Given the description of an element on the screen output the (x, y) to click on. 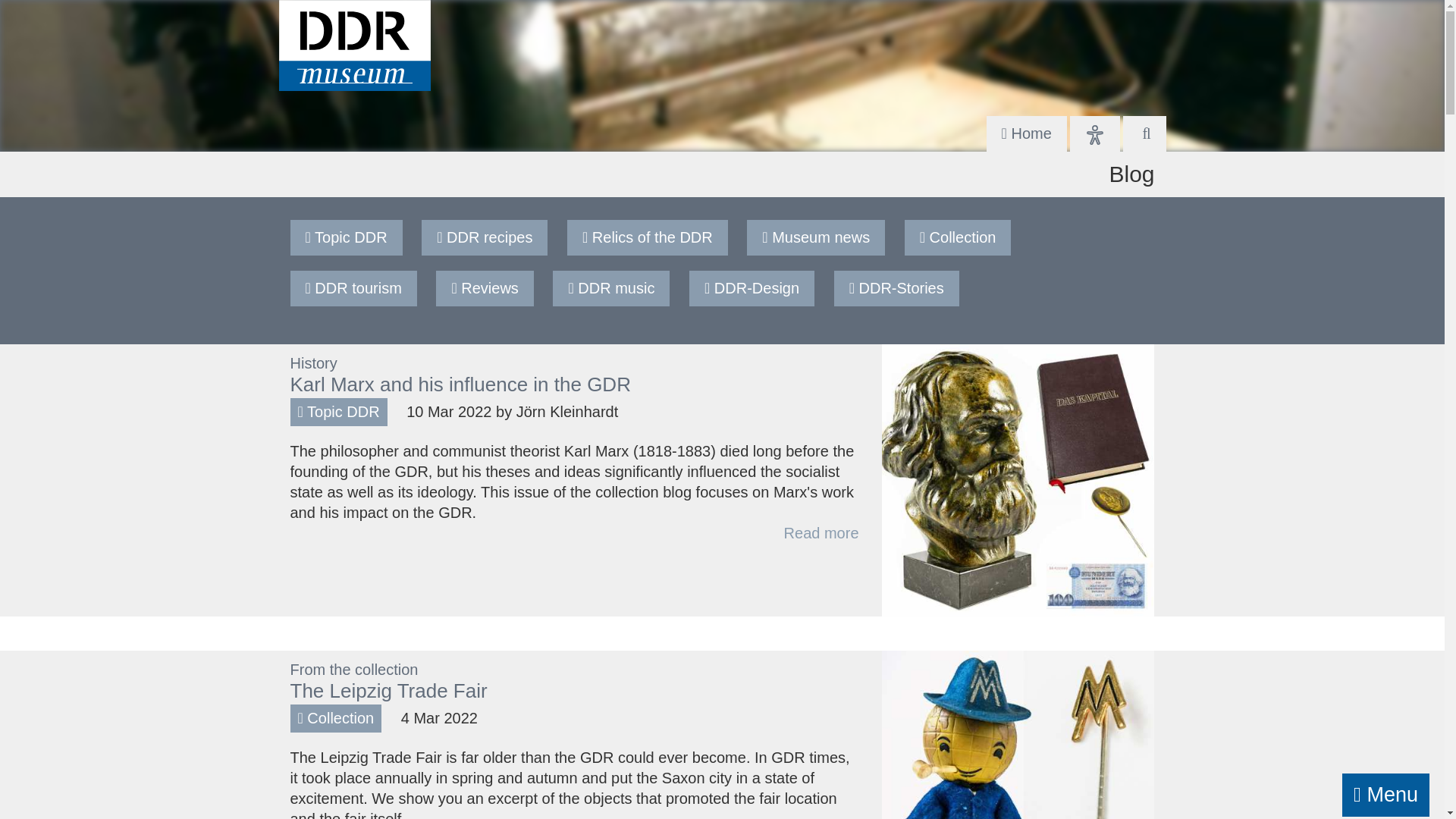
Relics of the DDR (647, 237)
Museum news (815, 237)
DDR-Design (751, 288)
Collection (957, 237)
Karl Marx and his influence in the GDR (459, 384)
DDR music (610, 288)
Topic DDR (345, 237)
DDR-Stories (895, 288)
Topic DDR (337, 411)
DDR recipes (484, 237)
Reviews (484, 288)
History (312, 362)
Home (1027, 133)
Open visual assistance software. (1094, 133)
DDR tourism (352, 288)
